Given the description of an element on the screen output the (x, y) to click on. 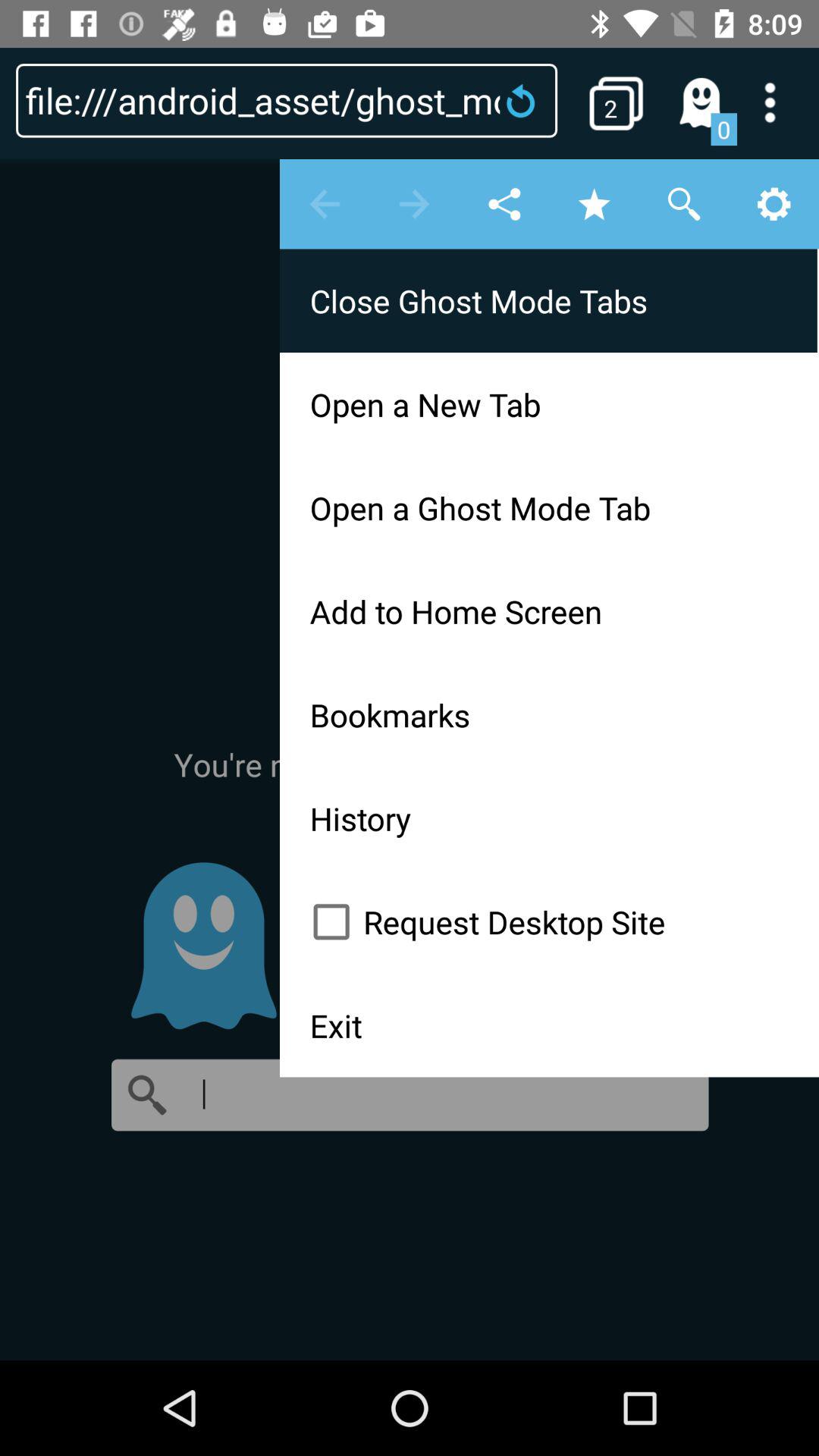
reload page (525, 100)
